Given the description of an element on the screen output the (x, y) to click on. 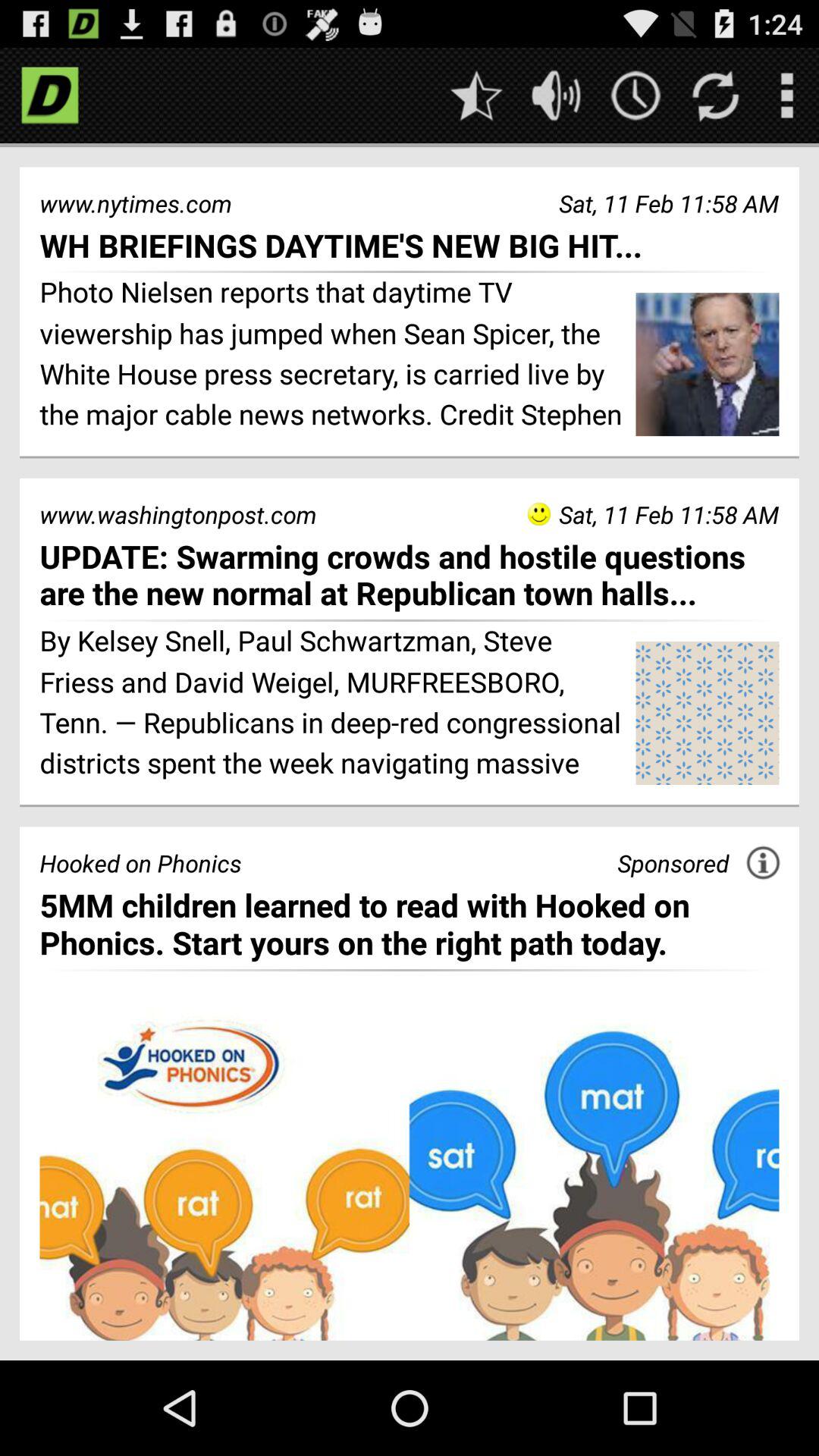
select update swarming crowds item (409, 574)
